Given the description of an element on the screen output the (x, y) to click on. 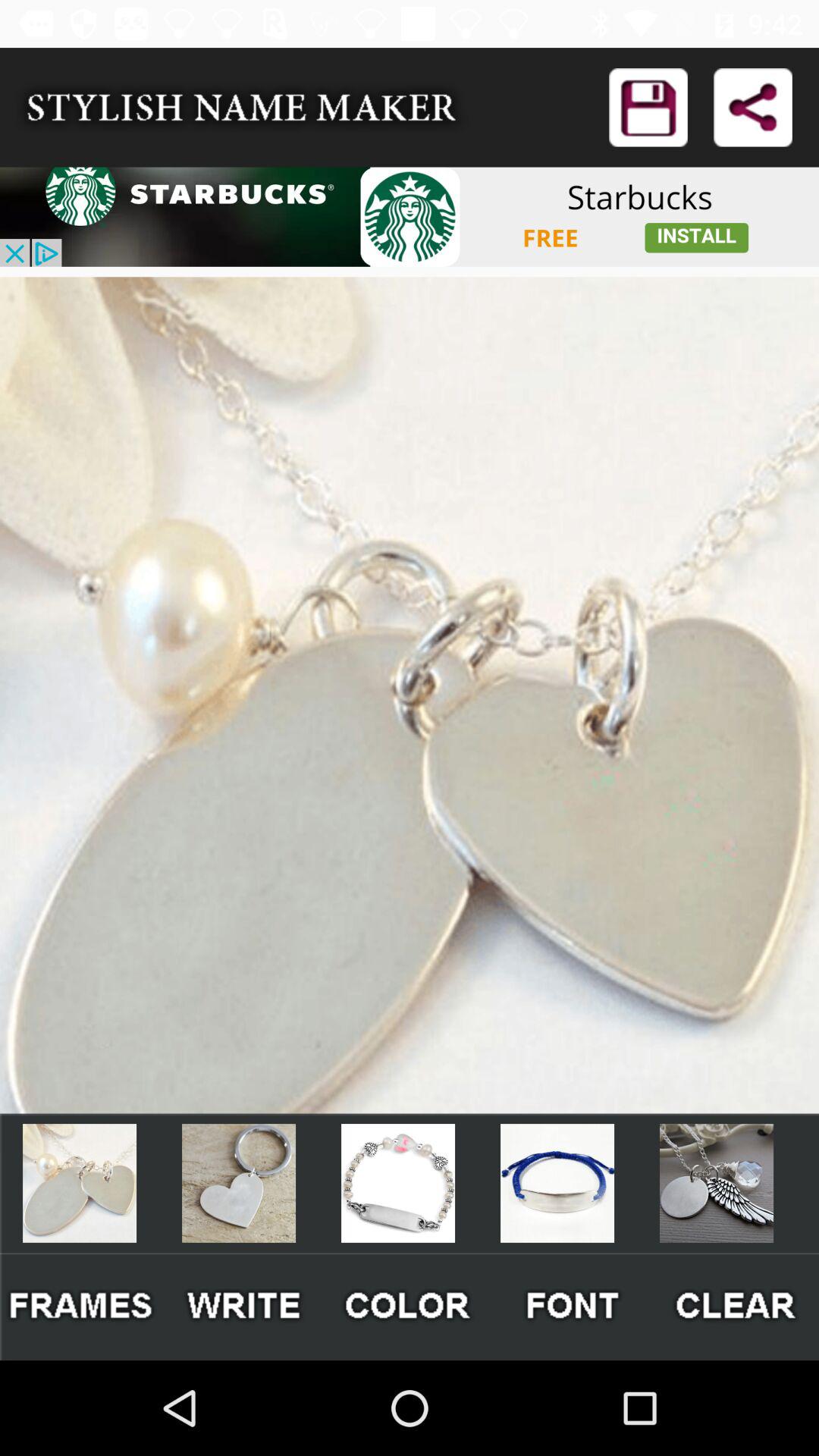
clear style (737, 1306)
